Given the description of an element on the screen output the (x, y) to click on. 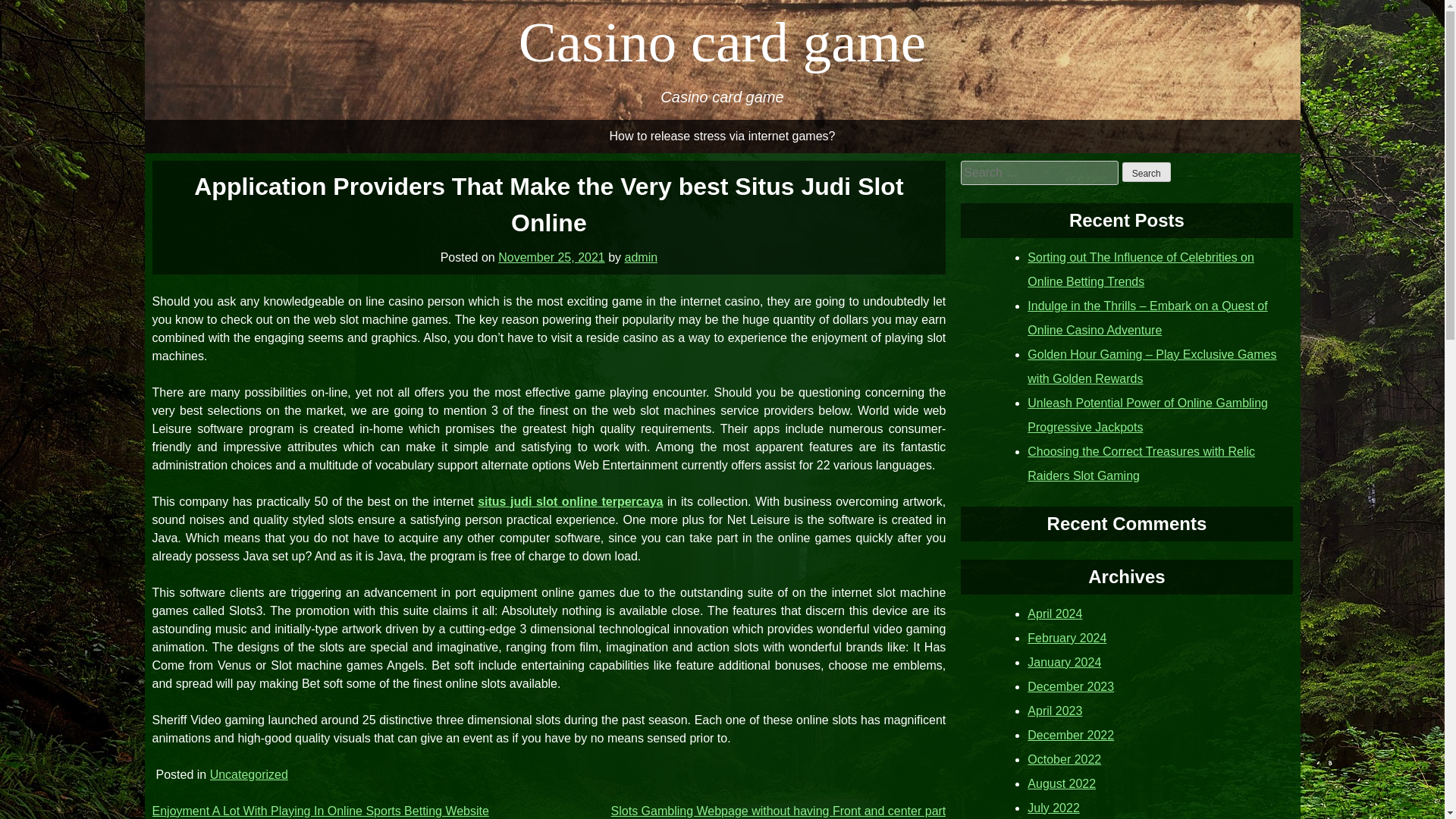
August 2022 (1061, 782)
April 2023 (1054, 709)
December 2022 (1070, 734)
Casino card game (722, 41)
situs judi slot online terpercaya (569, 500)
Slots Gambling Webpage without having Front and center part (778, 809)
January 2024 (1063, 661)
November 25, 2021 (551, 256)
admin (641, 256)
February 2024 (1066, 636)
How to release stress via internet games? (722, 136)
